Given the description of an element on the screen output the (x, y) to click on. 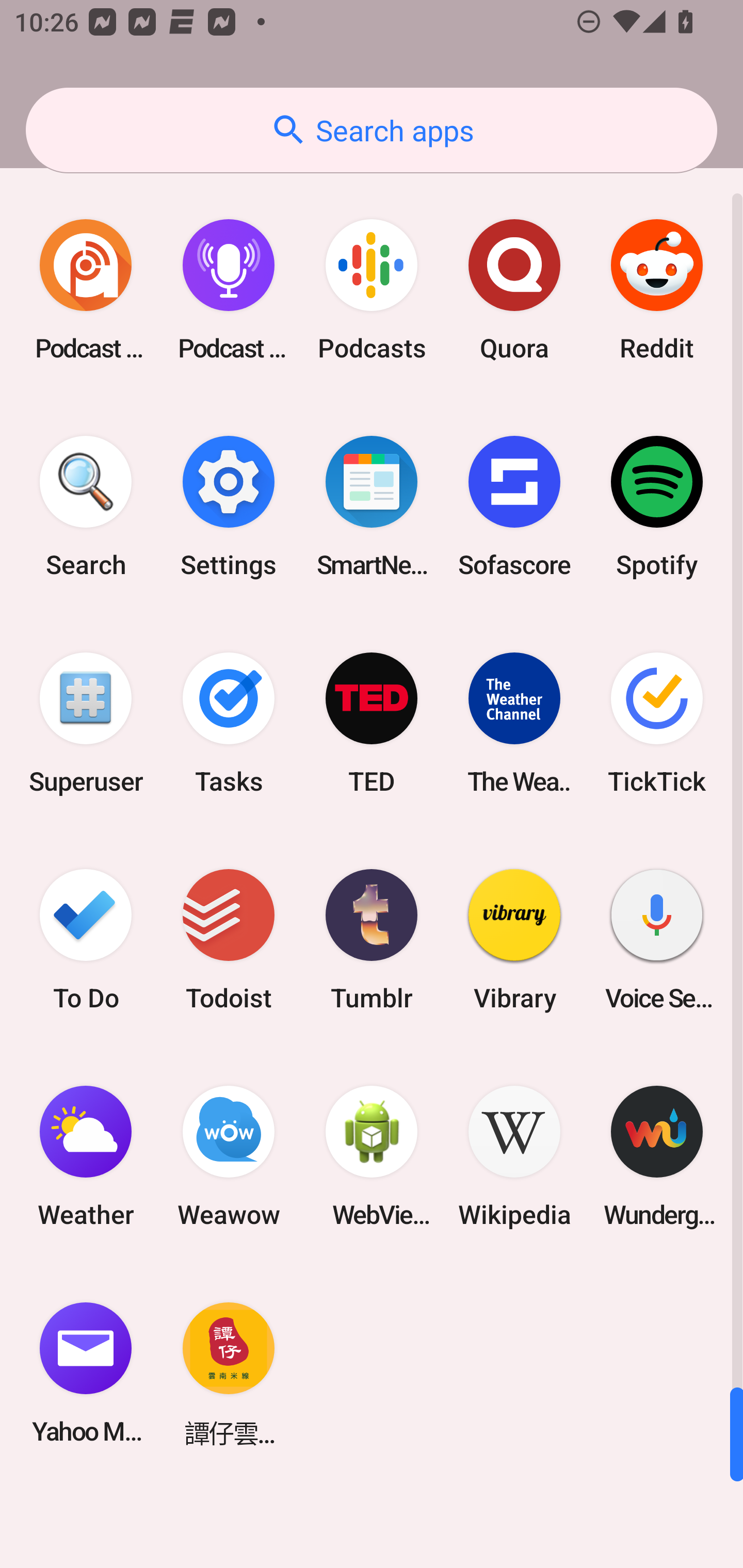
  Search apps (371, 130)
Podcast Addict (85, 289)
Podcast Player (228, 289)
Podcasts (371, 289)
Quora (514, 289)
Reddit (656, 289)
Search (85, 506)
Settings (228, 506)
SmartNews (371, 506)
Sofascore (514, 506)
Spotify (656, 506)
Superuser (85, 722)
Tasks (228, 722)
TED (371, 722)
The Weather Channel (514, 722)
TickTick (656, 722)
To Do (85, 939)
Todoist (228, 939)
Tumblr (371, 939)
Vibrary (514, 939)
Voice Search (656, 939)
Weather (85, 1156)
Weawow (228, 1156)
WebView Browser Tester (371, 1156)
Wikipedia (514, 1156)
Wunderground (656, 1156)
Yahoo Mail (85, 1373)
譚仔雲南米線 (228, 1373)
